Given the description of an element on the screen output the (x, y) to click on. 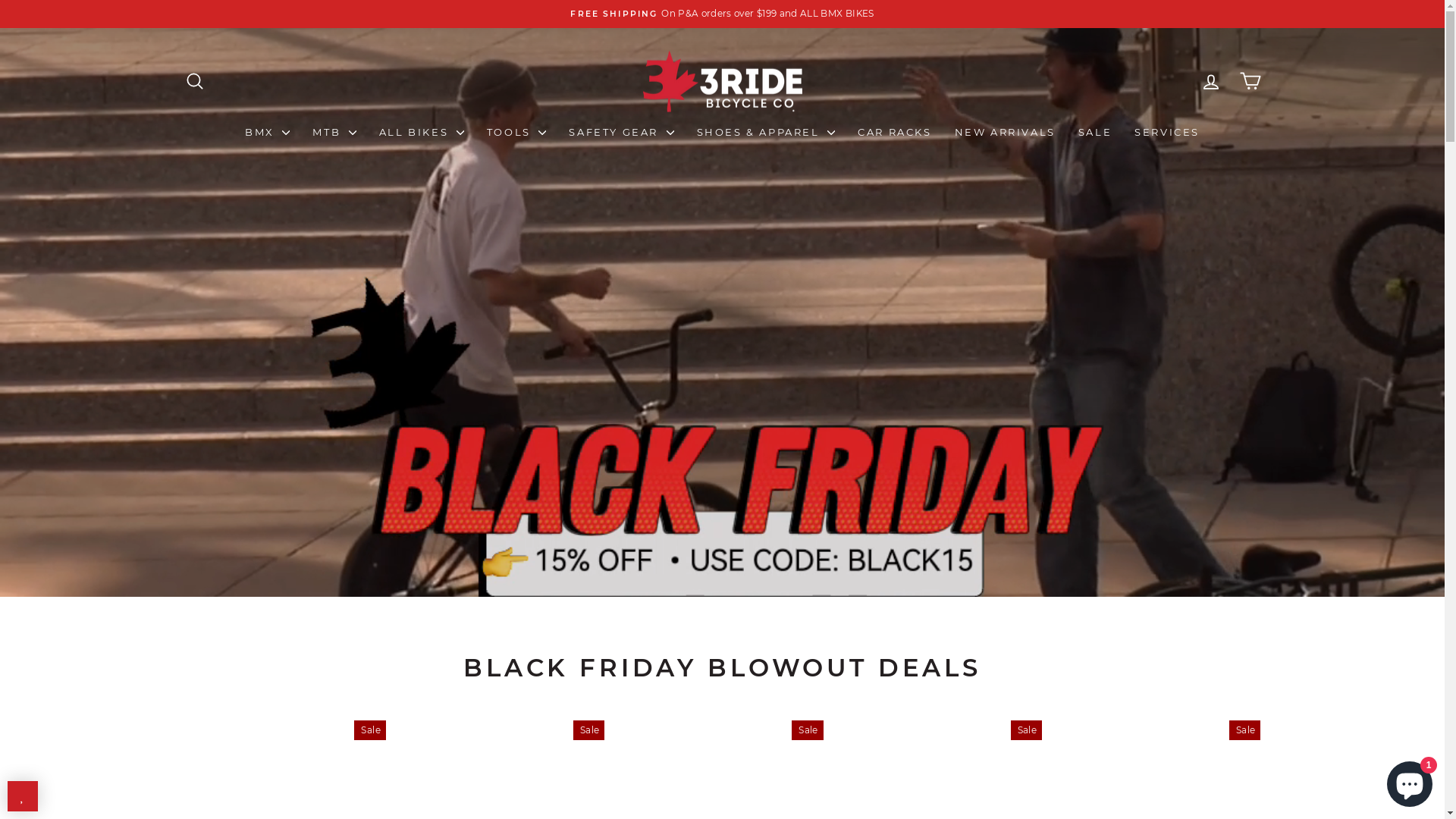
CART Element type: text (1249, 80)
NEW ARRIVALS Element type: text (1004, 131)
Shopify online store chat Element type: hover (1409, 780)
CAR RACKS Element type: text (894, 131)
SERVICES Element type: text (1167, 131)
SALE Element type: text (1094, 131)
ICON-SEARCH
SEARCH Element type: text (193, 80)
ACCOUNT
LOG IN Element type: text (1210, 80)
